Given the description of an element on the screen output the (x, y) to click on. 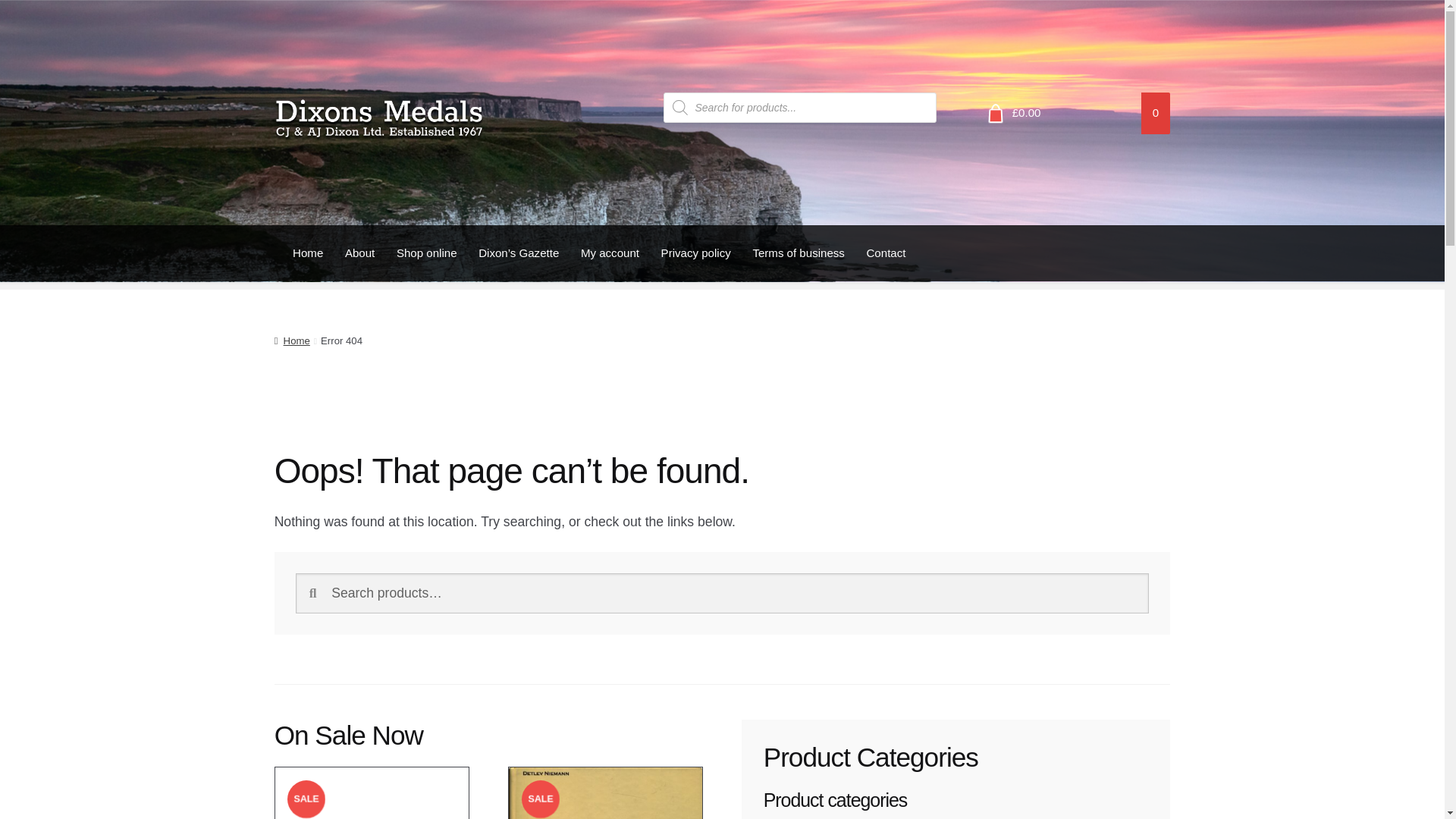
My account (609, 252)
Shop online (426, 252)
View your shopping basket (1072, 113)
Home (292, 340)
Privacy policy (695, 252)
Terms of business (798, 252)
